Given the description of an element on the screen output the (x, y) to click on. 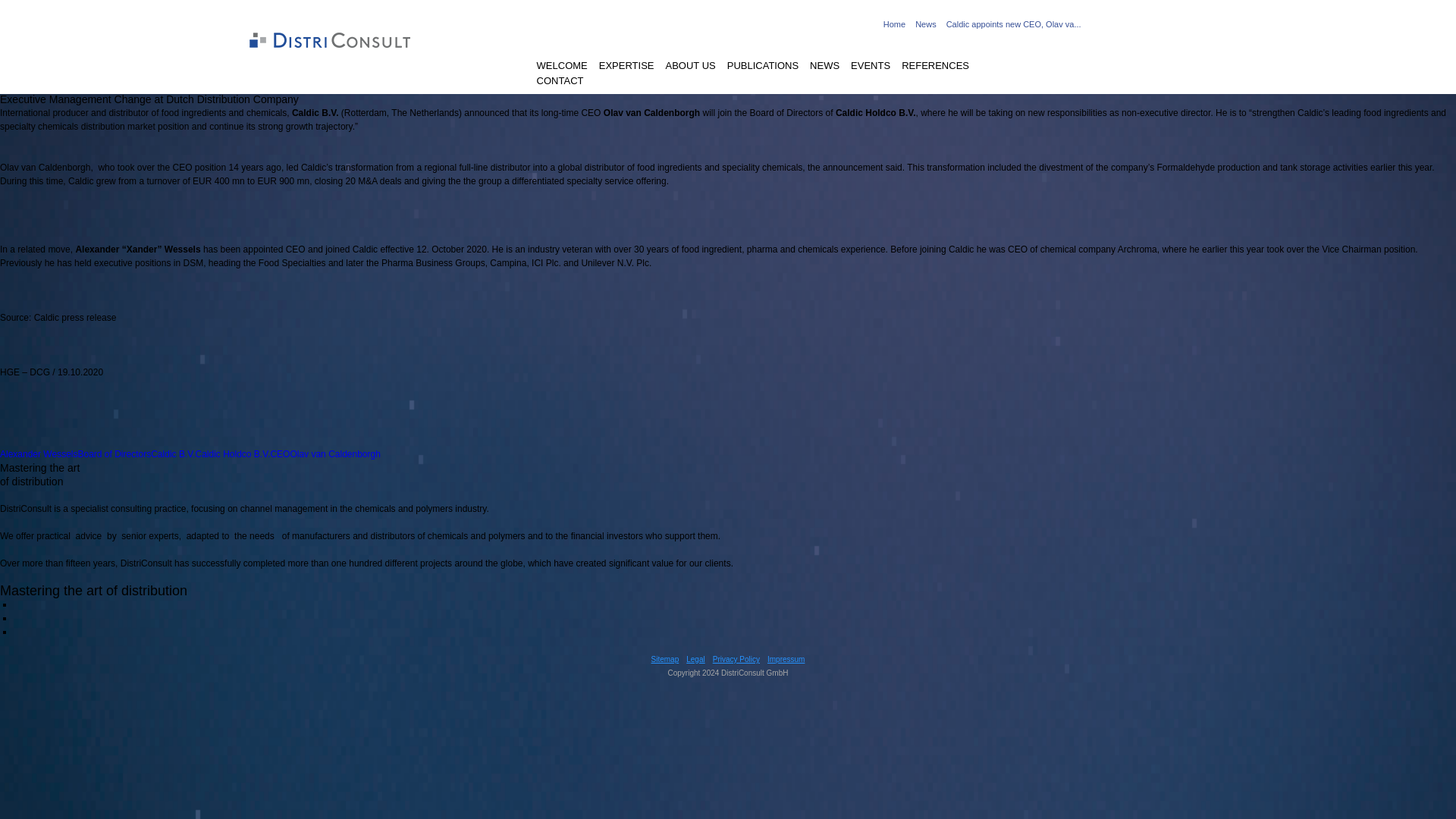
WELCOME (562, 67)
News (925, 24)
Home (894, 24)
CONTACT (560, 82)
REFERENCES (935, 67)
NEWS (824, 67)
EVENTS (869, 67)
Caldic appoints new CEO, Olav va... (1013, 24)
PUBLICATIONS (761, 67)
ABOUT US (690, 67)
